Given the description of an element on the screen output the (x, y) to click on. 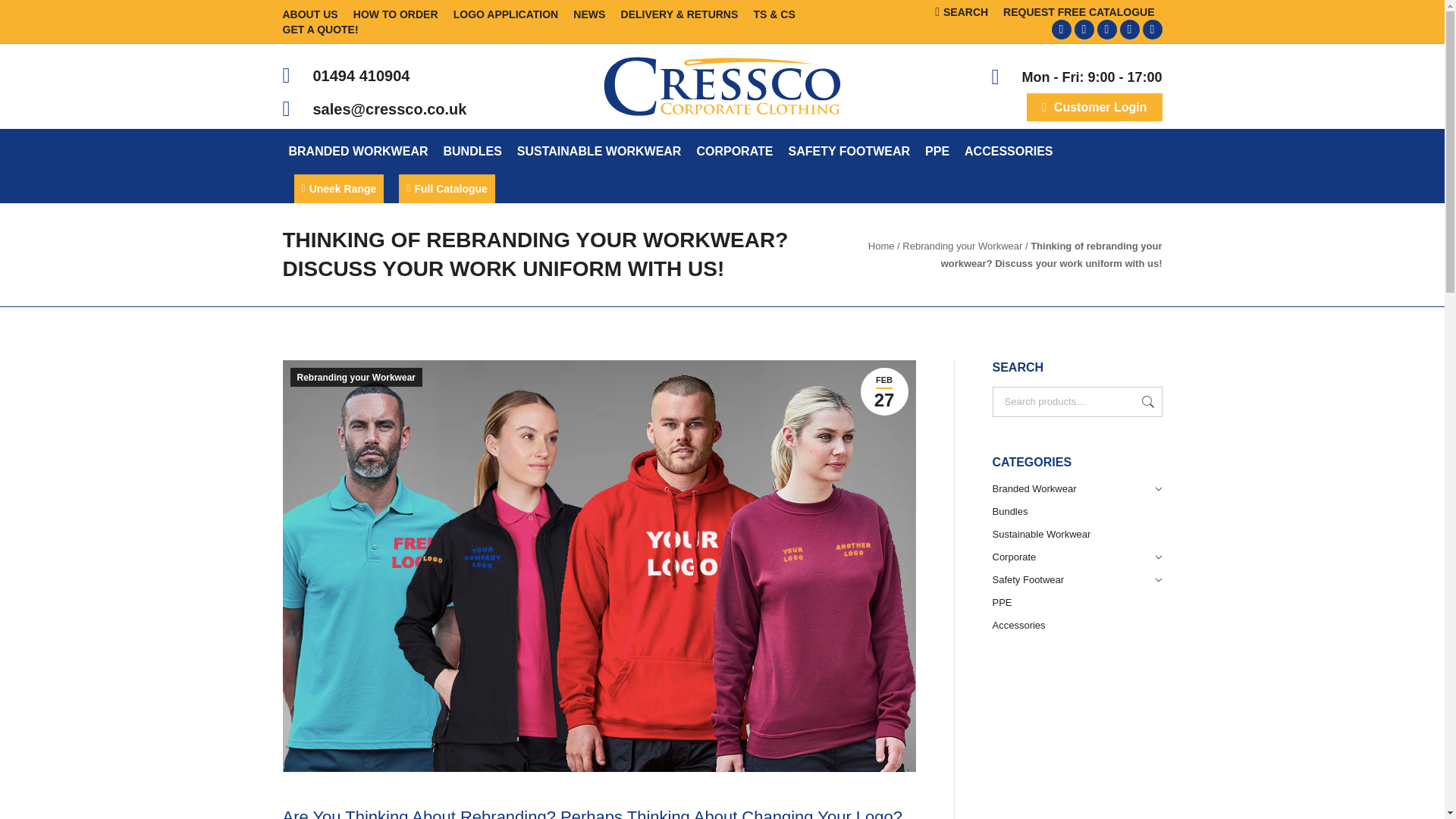
ABOUT US (309, 14)
X page opens in new window (1151, 29)
Go! (26, 17)
Linkedin page opens in new window (1060, 29)
HOW TO ORDER (395, 14)
YouTube page opens in new window (1083, 29)
01494 410904 (361, 75)
Linkedin page opens in new window (1060, 29)
REQUEST FREE CATALOGUE (1078, 11)
Instagram page opens in new window (1128, 29)
